Given the description of an element on the screen output the (x, y) to click on. 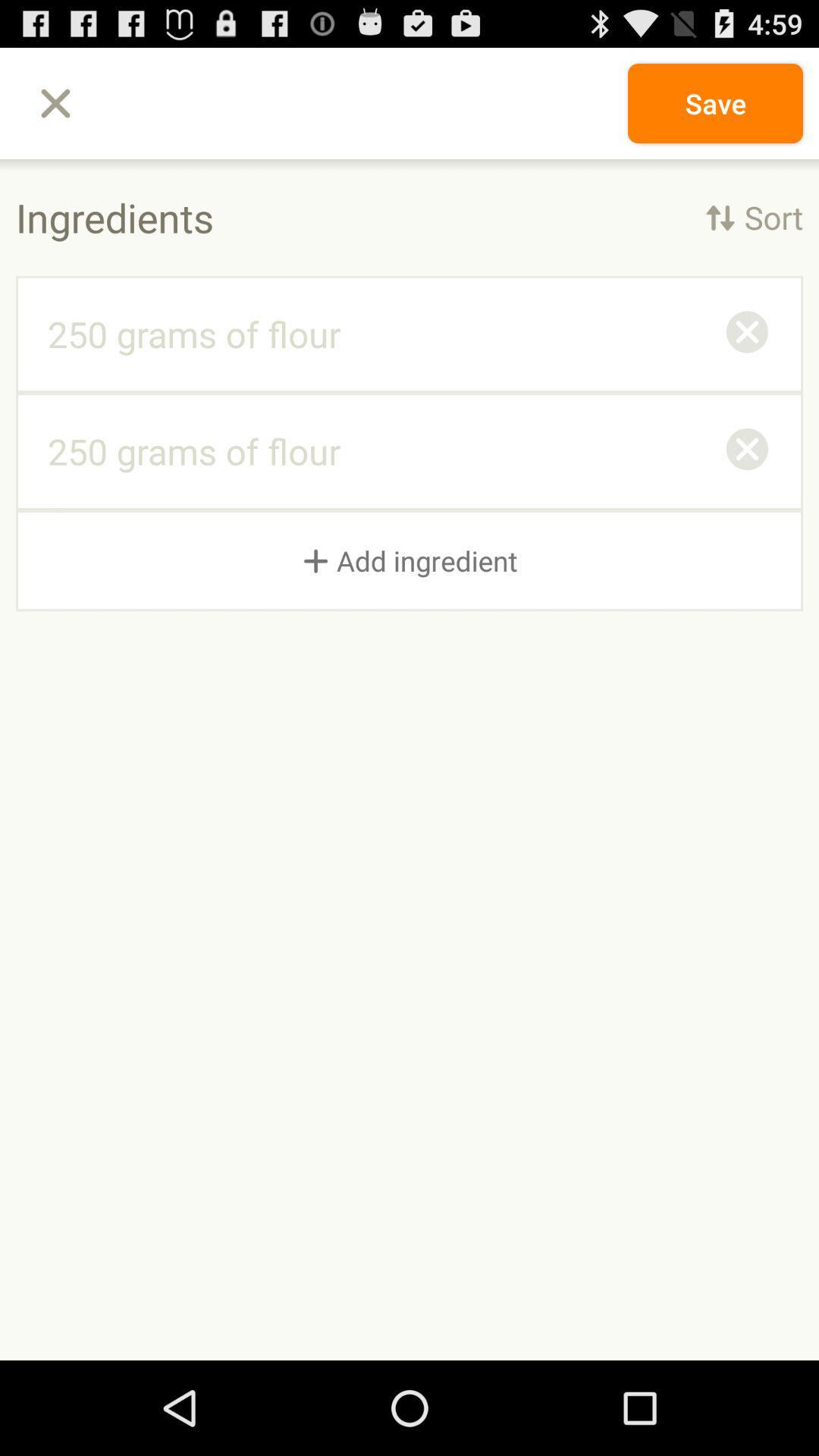
click the save item (715, 103)
